Given the description of an element on the screen output the (x, y) to click on. 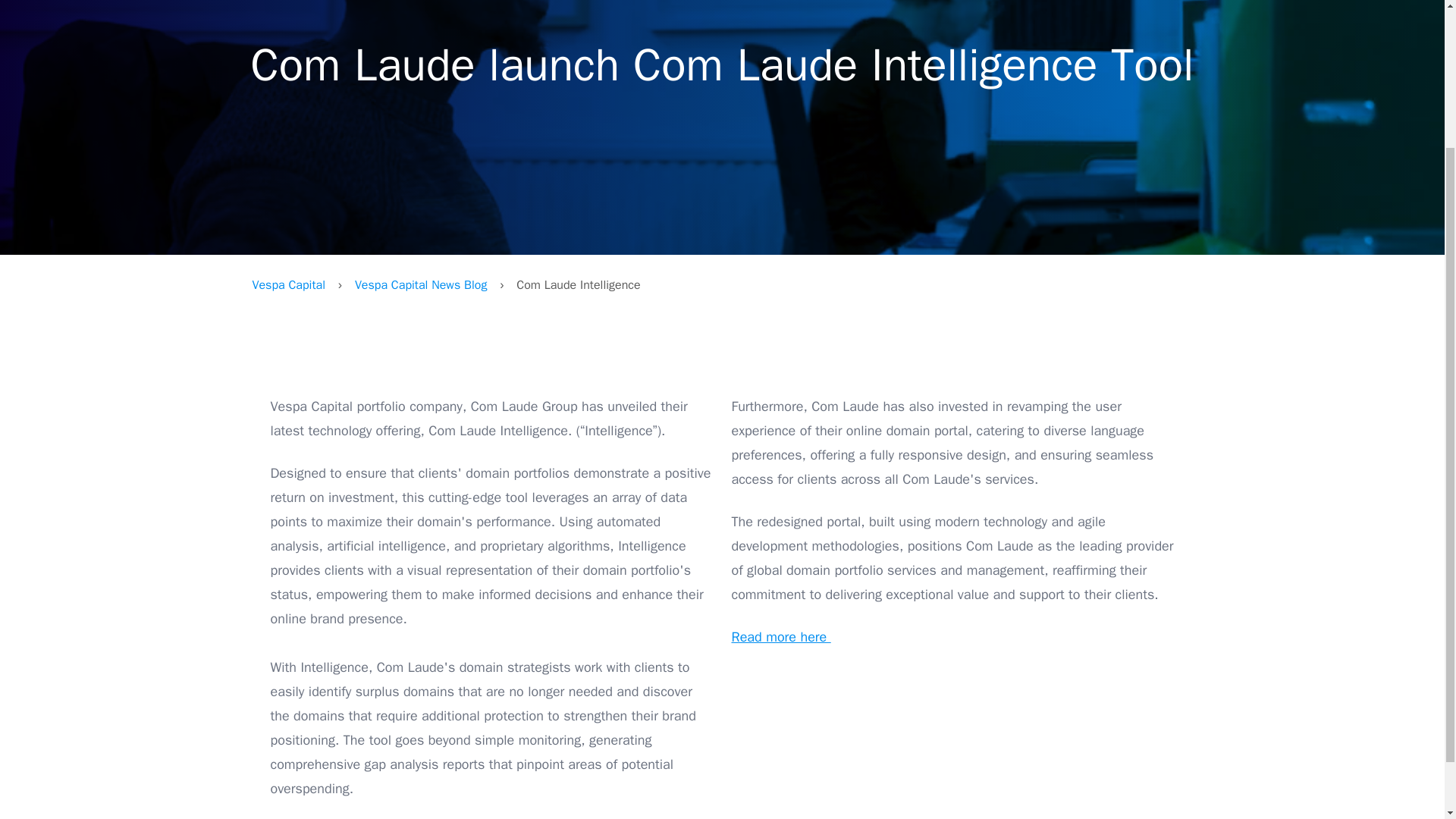
Read more here  (779, 636)
Vespa Capital (287, 284)
Com Laude Intelligence (951, 727)
Vespa Capital News Blog (420, 284)
